Given the description of an element on the screen output the (x, y) to click on. 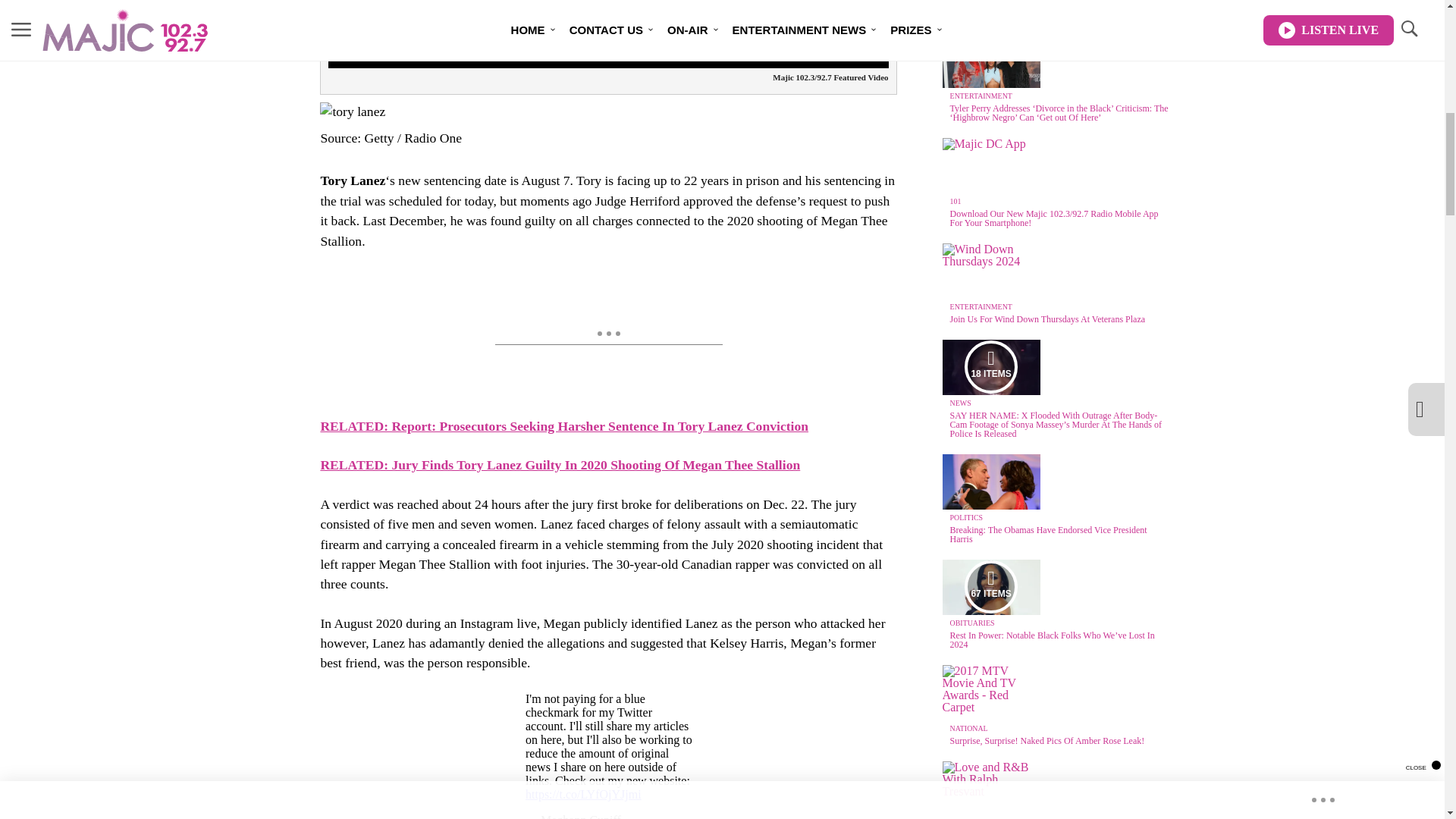
Media Playlist (990, 586)
Media Playlist (990, 366)
